Given the description of an element on the screen output the (x, y) to click on. 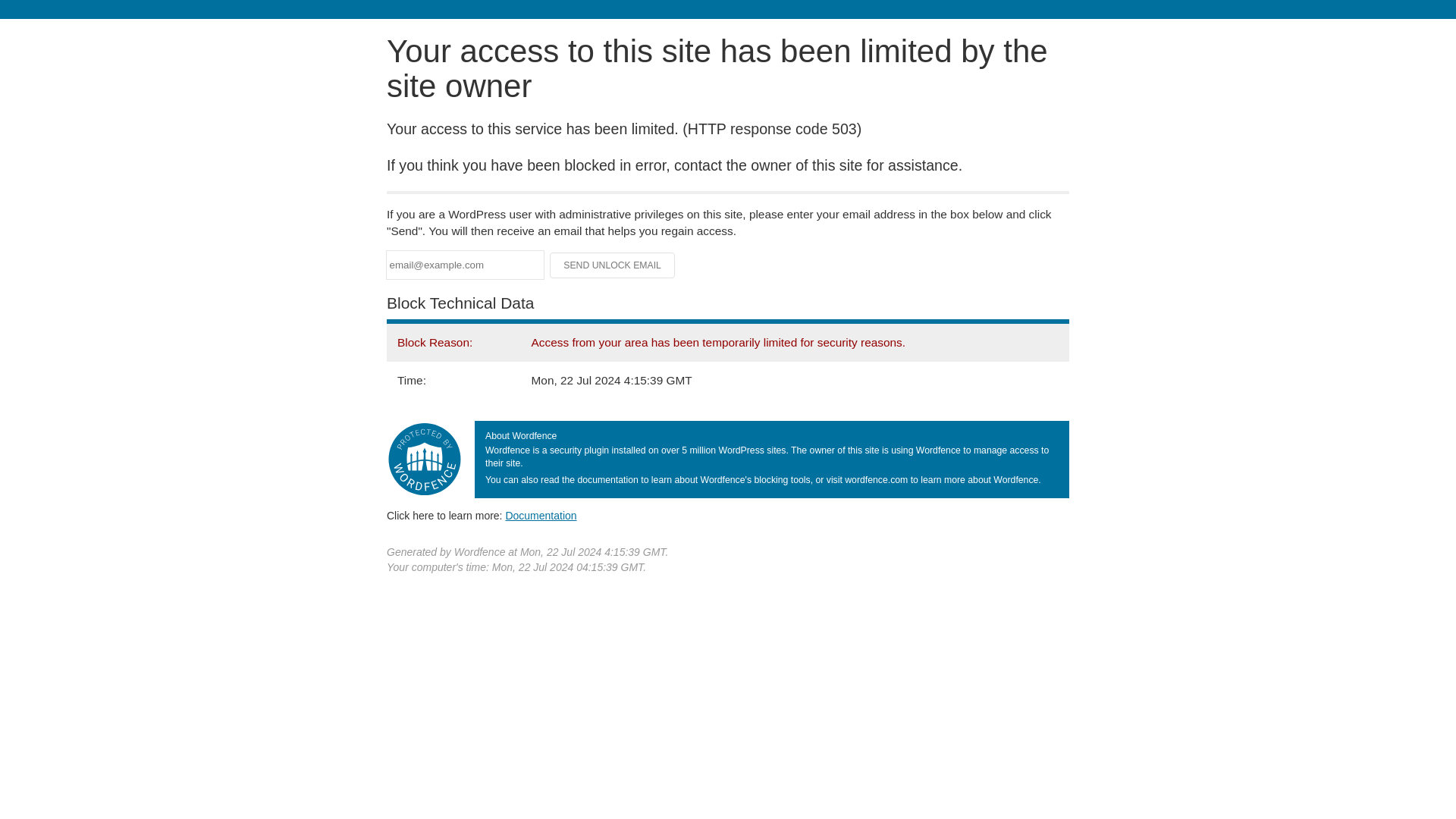
Send Unlock Email (612, 265)
Send Unlock Email (612, 265)
Documentation (540, 515)
